Given the description of an element on the screen output the (x, y) to click on. 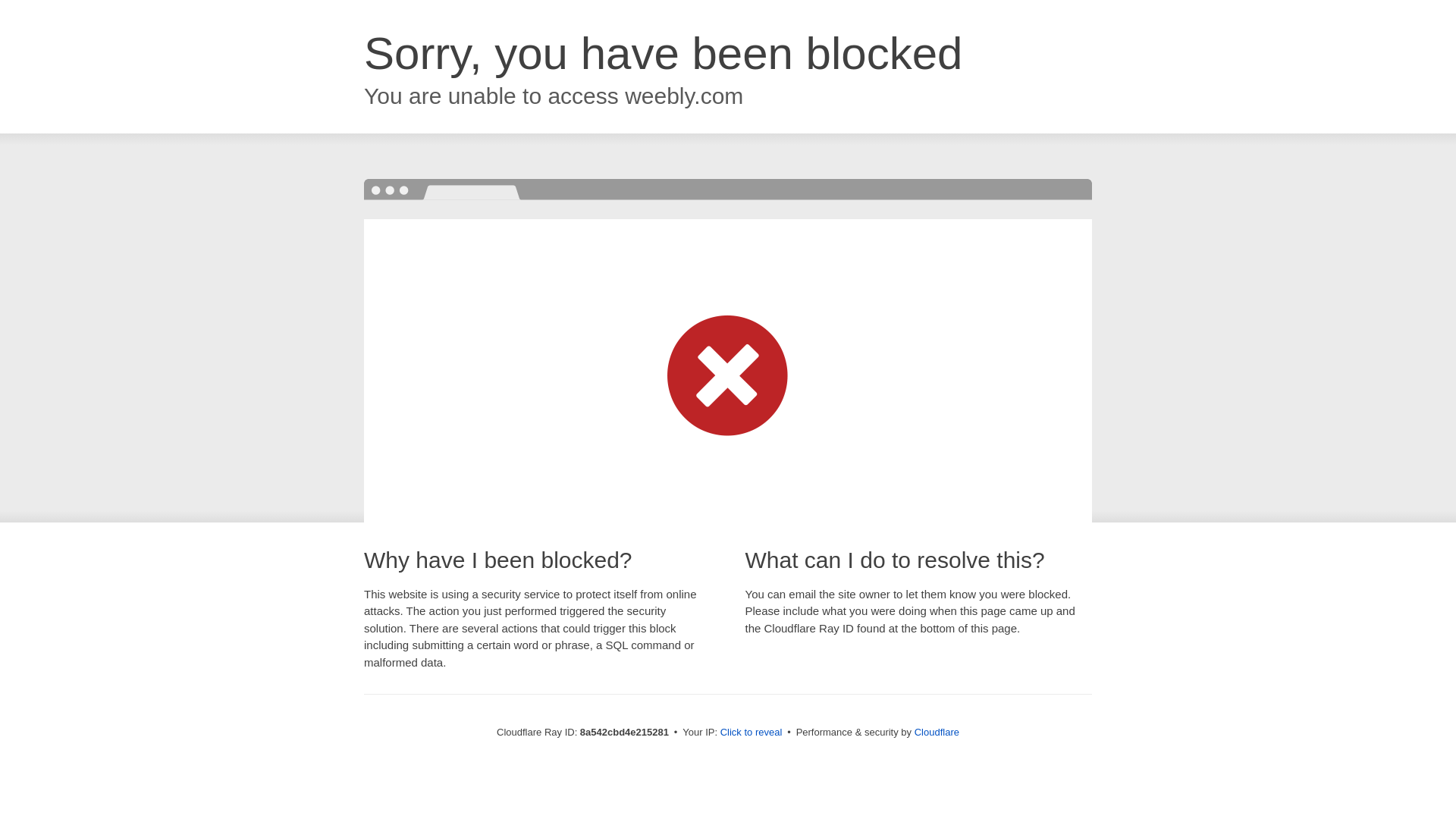
Click to reveal (751, 732)
Cloudflare (936, 731)
